Given the description of an element on the screen output the (x, y) to click on. 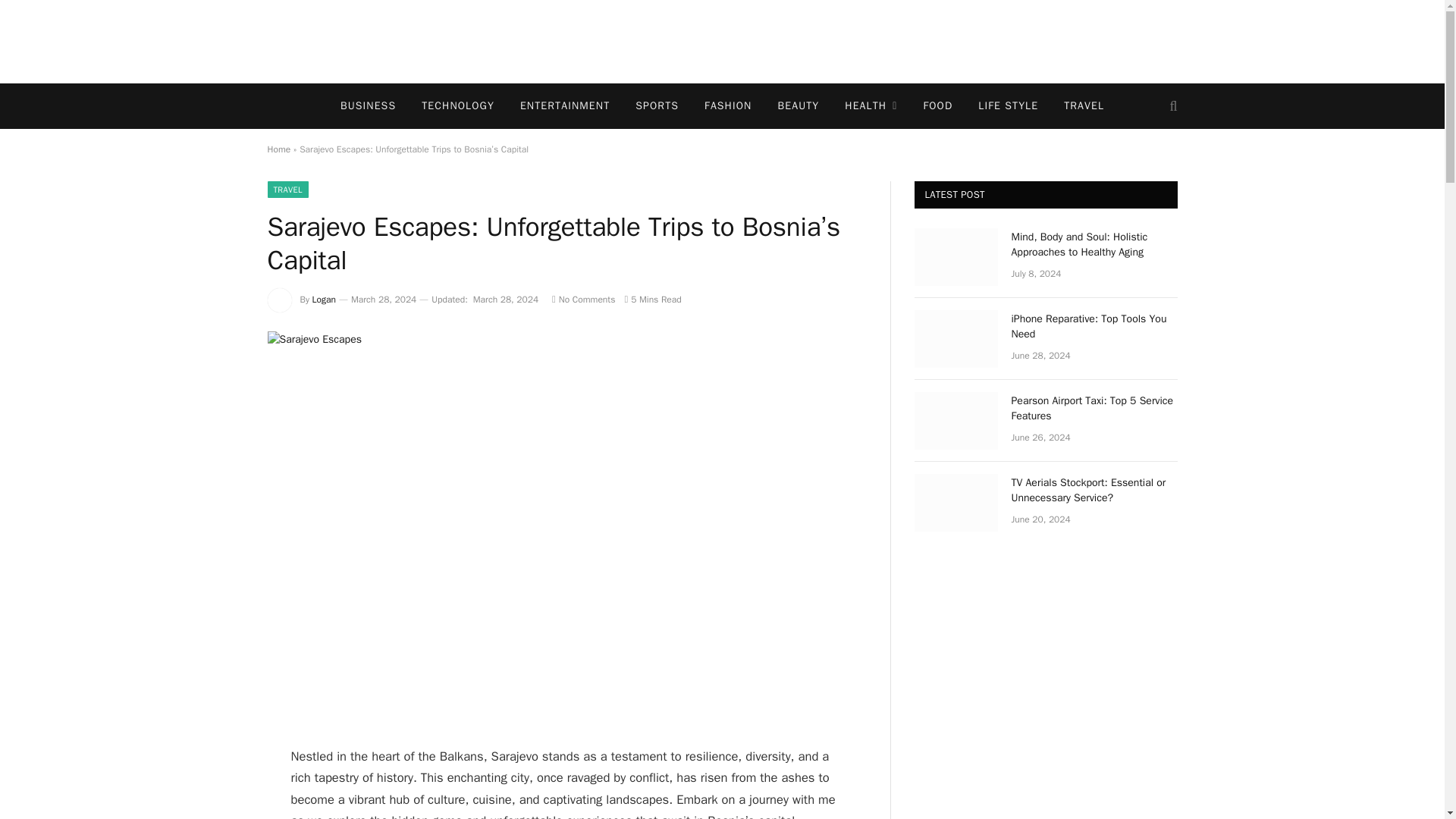
iPhone Reparative: Top Tools You Need (955, 338)
Logan (324, 299)
TRAVEL (1083, 105)
HEALTH (870, 105)
BUSINESS (368, 105)
Posts by Logan (324, 299)
Mind, Body and Soul: Holistic Approaches to Healthy Aging (955, 256)
No Comments (582, 299)
SPORTS (657, 105)
BEAUTY (797, 105)
FOOD (937, 105)
TV Aerials Stockport: Essential or Unnecessary Service? (955, 502)
TECHNOLOGY (457, 105)
Pearson Airport Taxi: Top 5 Service Features (955, 420)
ENTERTAINMENT (564, 105)
